Given the description of an element on the screen output the (x, y) to click on. 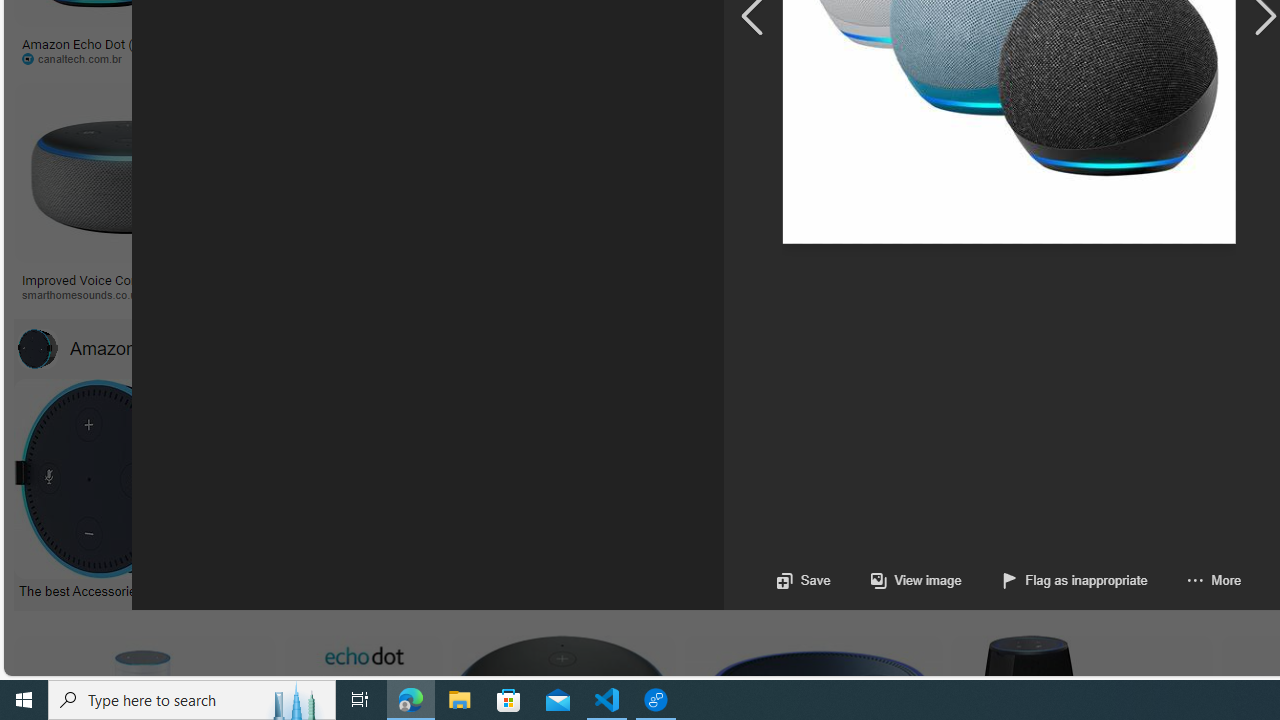
Android Central (726, 295)
buynow.com.ec (1117, 58)
canaltech.com.br (97, 58)
smarthomesounds.co.uk (128, 295)
croma.com (885, 58)
pricehistoryapp.com (506, 58)
